Given the description of an element on the screen output the (x, y) to click on. 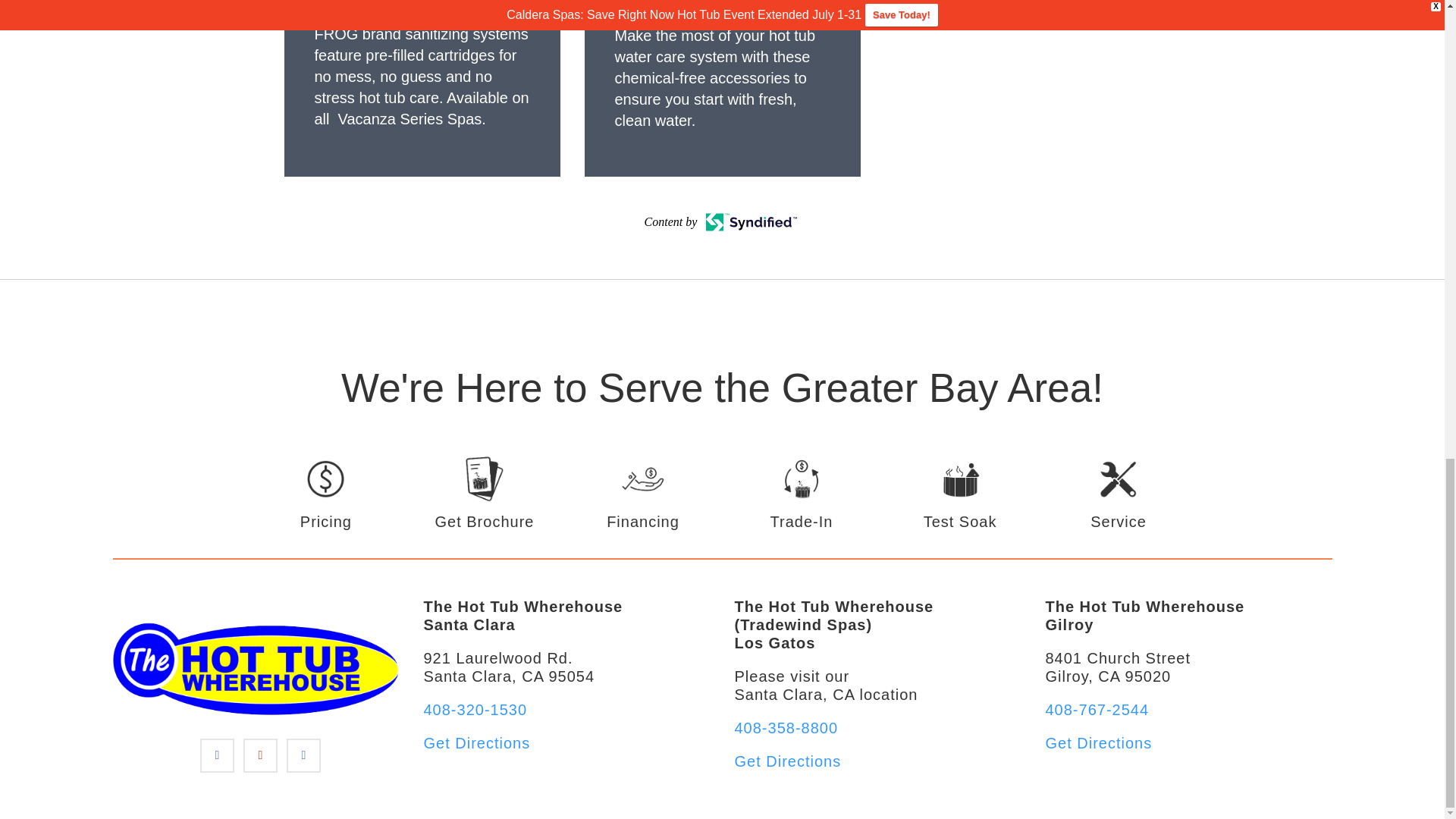
icon-Pricing-dark (325, 494)
icon-Test-Soak-dark (960, 494)
icon-Financing-dark (643, 494)
icon-Trade-In-dark (801, 494)
icon-Service-dark (1118, 494)
icon-Brochure-dark (483, 494)
